Given the description of an element on the screen output the (x, y) to click on. 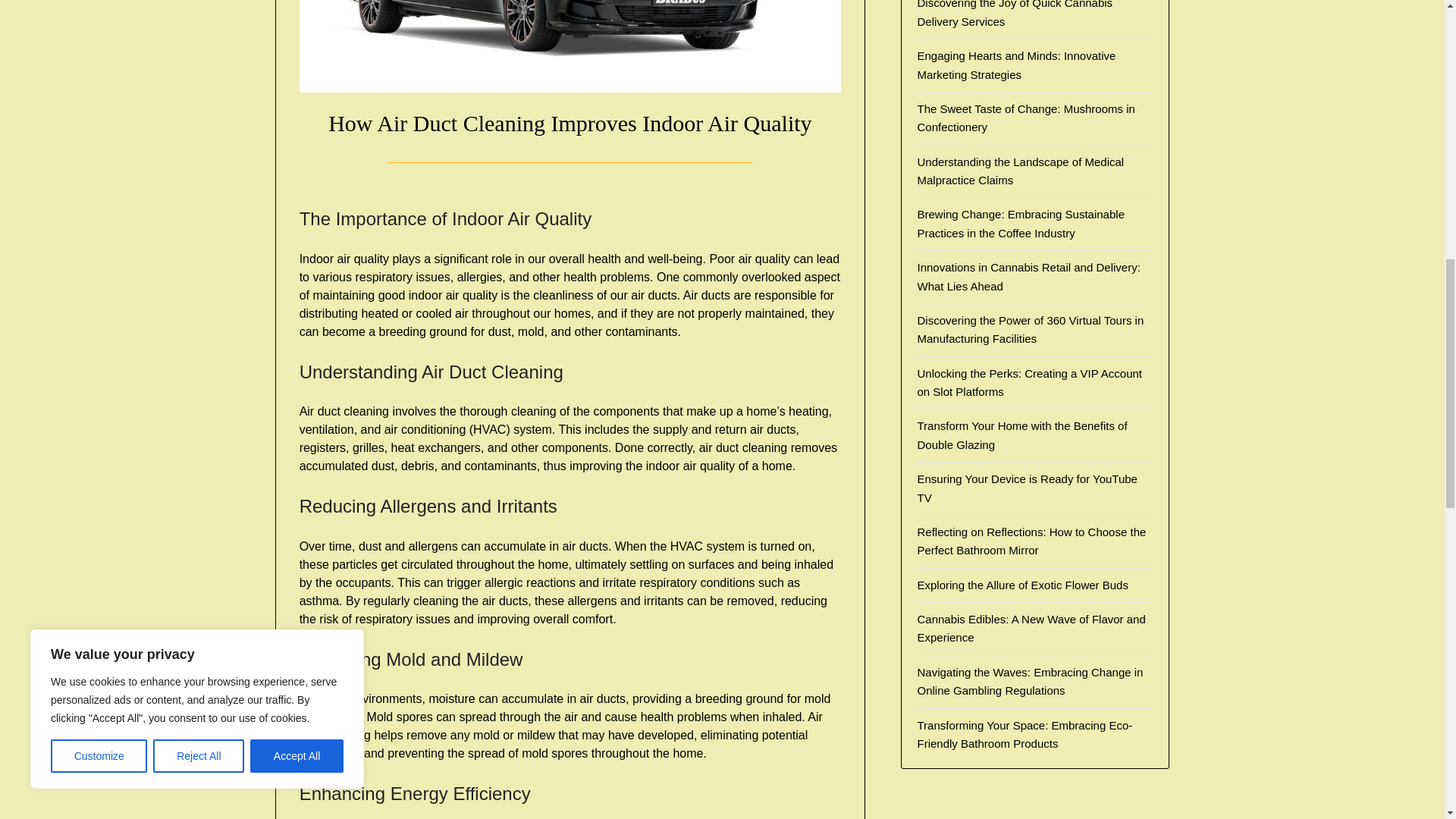
Engaging Hearts and Minds: Innovative Marketing Strategies (1016, 64)
Understanding the Landscape of Medical Malpractice Claims (1020, 170)
Discovering the Joy of Quick Cannabis Delivery Services (1014, 13)
The Sweet Taste of Change: Mushrooms in Confectionery (1025, 117)
Innovations in Cannabis Retail and Delivery: What Lies Ahead (1028, 276)
Transform Your Home with the Benefits of Double Glazing (1021, 434)
